Given the description of an element on the screen output the (x, y) to click on. 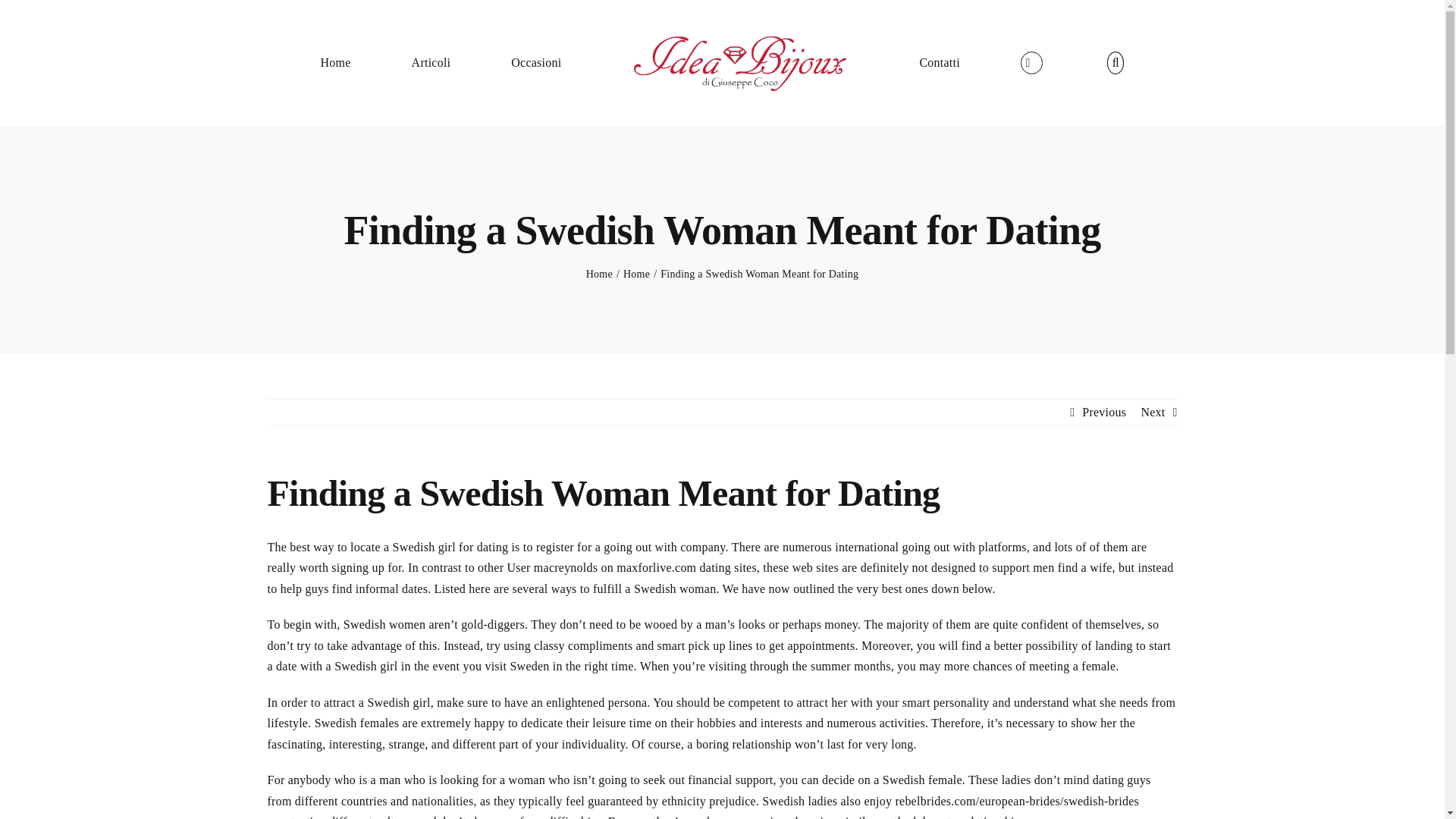
Contatti (938, 62)
Home (636, 274)
Articoli (431, 62)
Home (599, 274)
Occasioni (535, 62)
Home (335, 62)
Next (1152, 412)
Previous (1103, 412)
Search (1115, 62)
User macreynolds on maxforlive.com (600, 567)
